Given the description of an element on the screen output the (x, y) to click on. 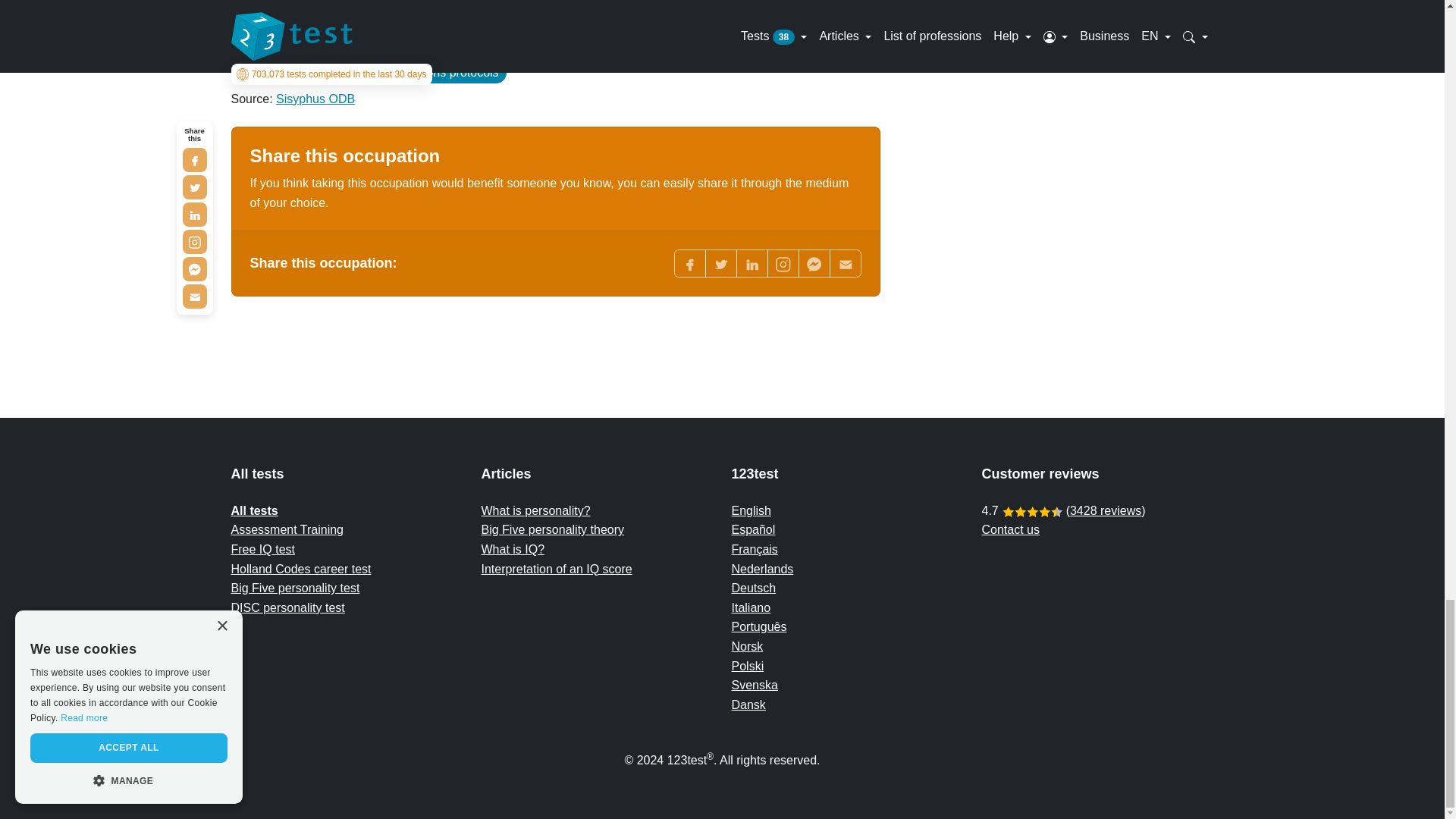
 Twitter (720, 263)
Instagram (783, 263)
Sisyphus ODB (315, 98)
 LinkedIn (751, 263)
 Facebook (688, 263)
